Given the description of an element on the screen output the (x, y) to click on. 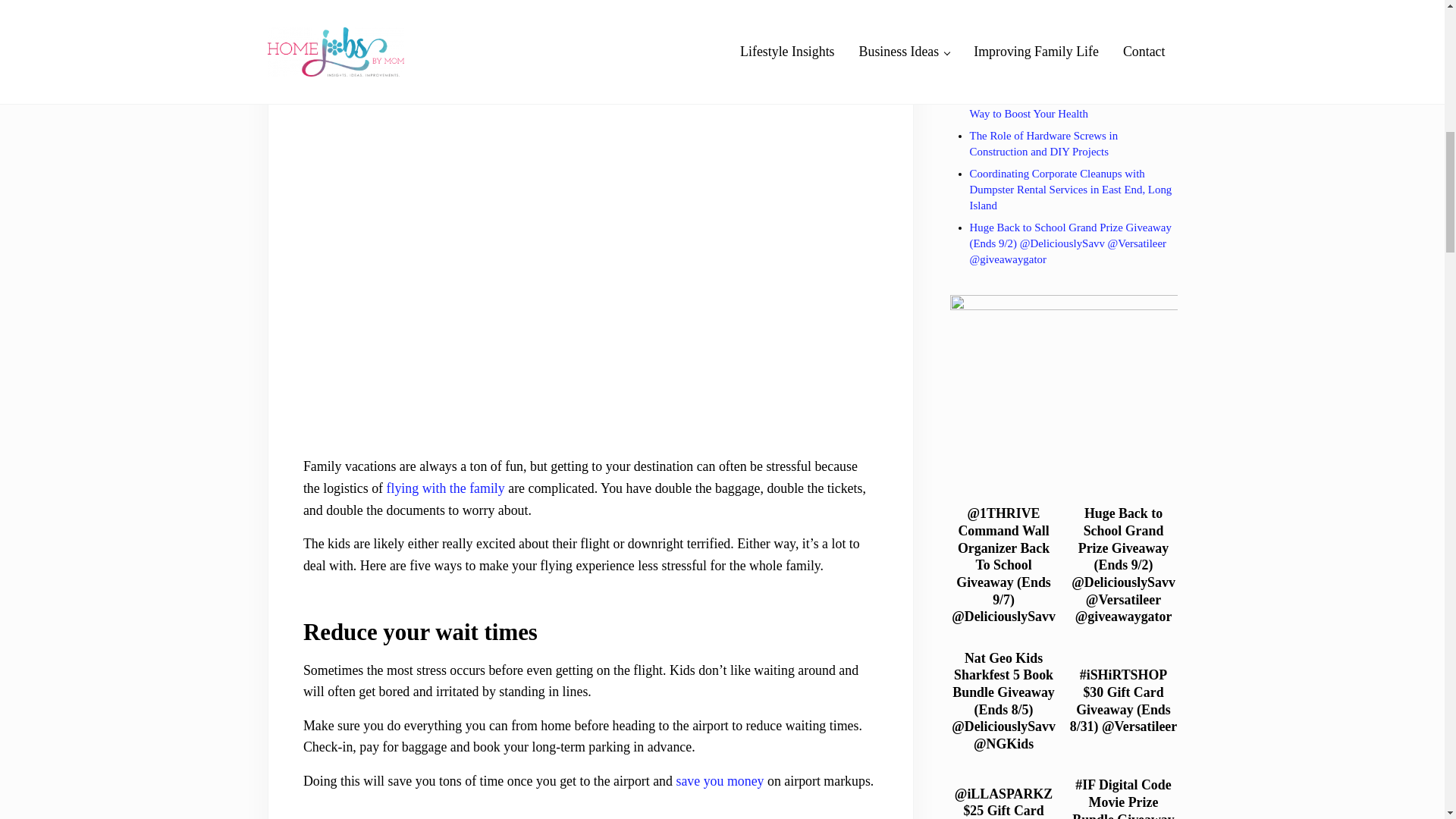
save you money (718, 780)
flying with the family (446, 488)
